Given the description of an element on the screen output the (x, y) to click on. 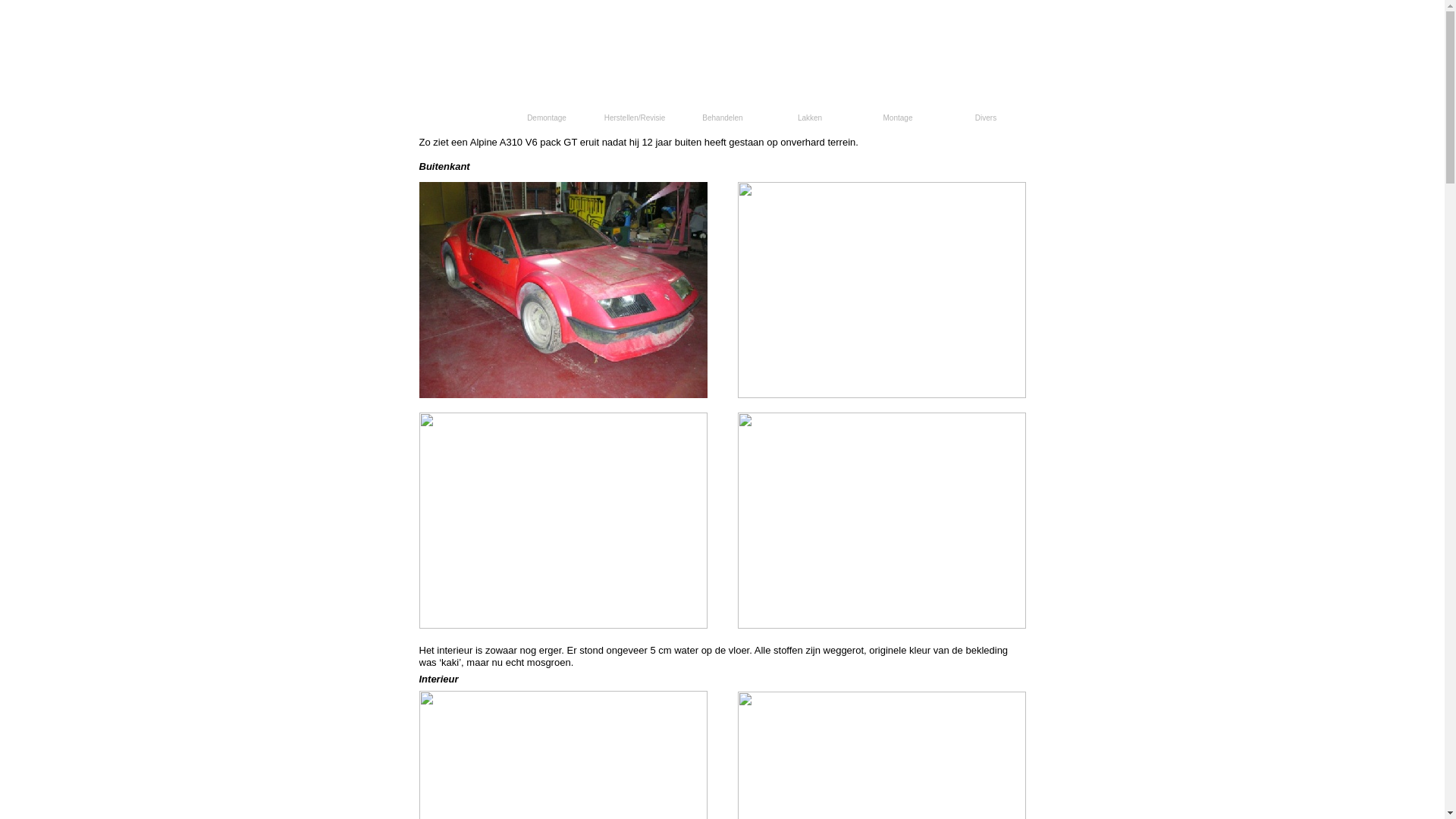
Montage Element type: text (898, 117)
Behandelen Element type: text (722, 117)
Originele toestand Element type: text (458, 117)
Demontage Element type: text (546, 117)
Divers Element type: text (986, 117)
Herstellen/Revisie Element type: text (634, 117)
Lakken Element type: text (810, 117)
